Given the description of an element on the screen output the (x, y) to click on. 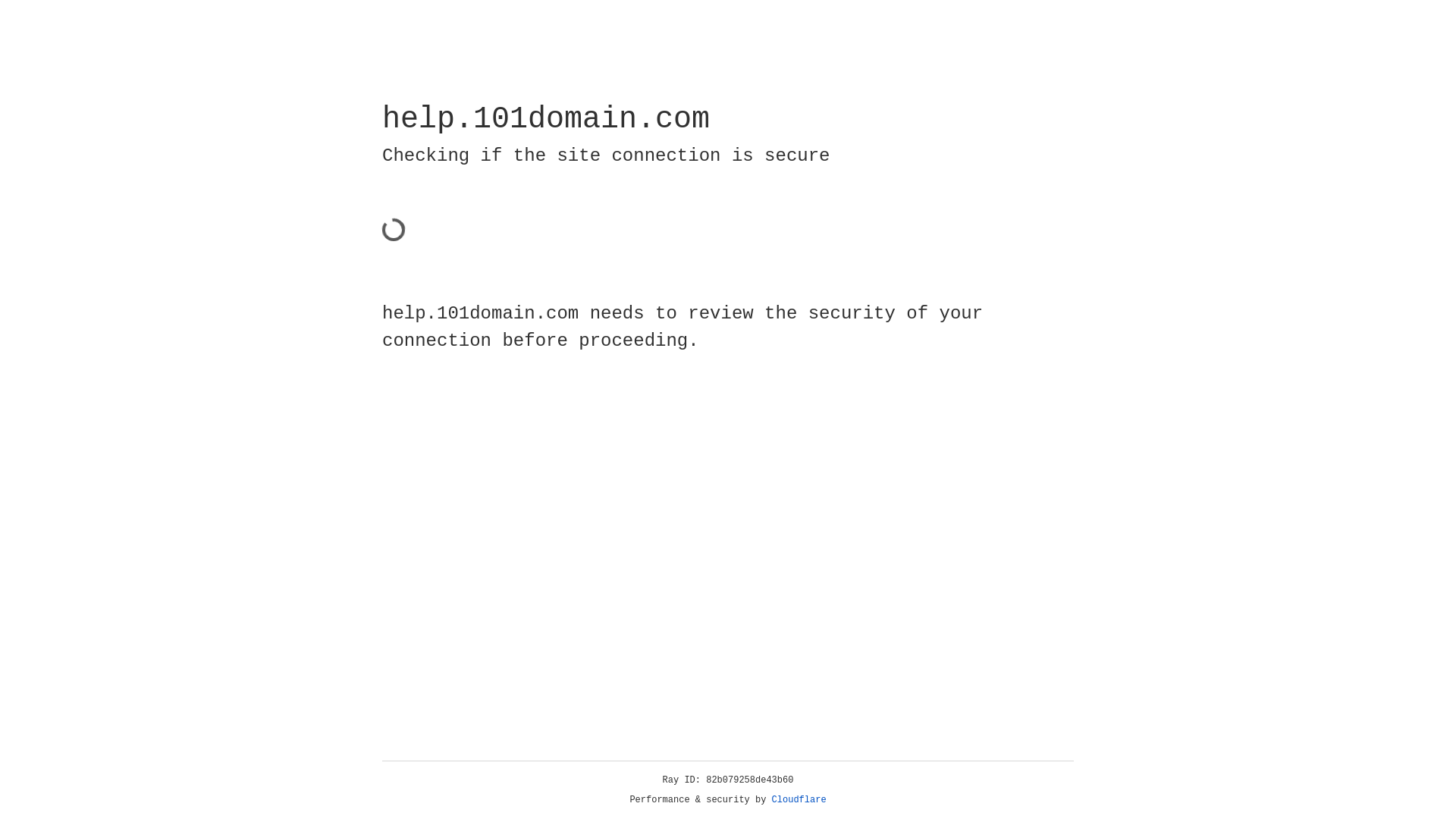
Cloudflare Element type: text (798, 799)
